Given the description of an element on the screen output the (x, y) to click on. 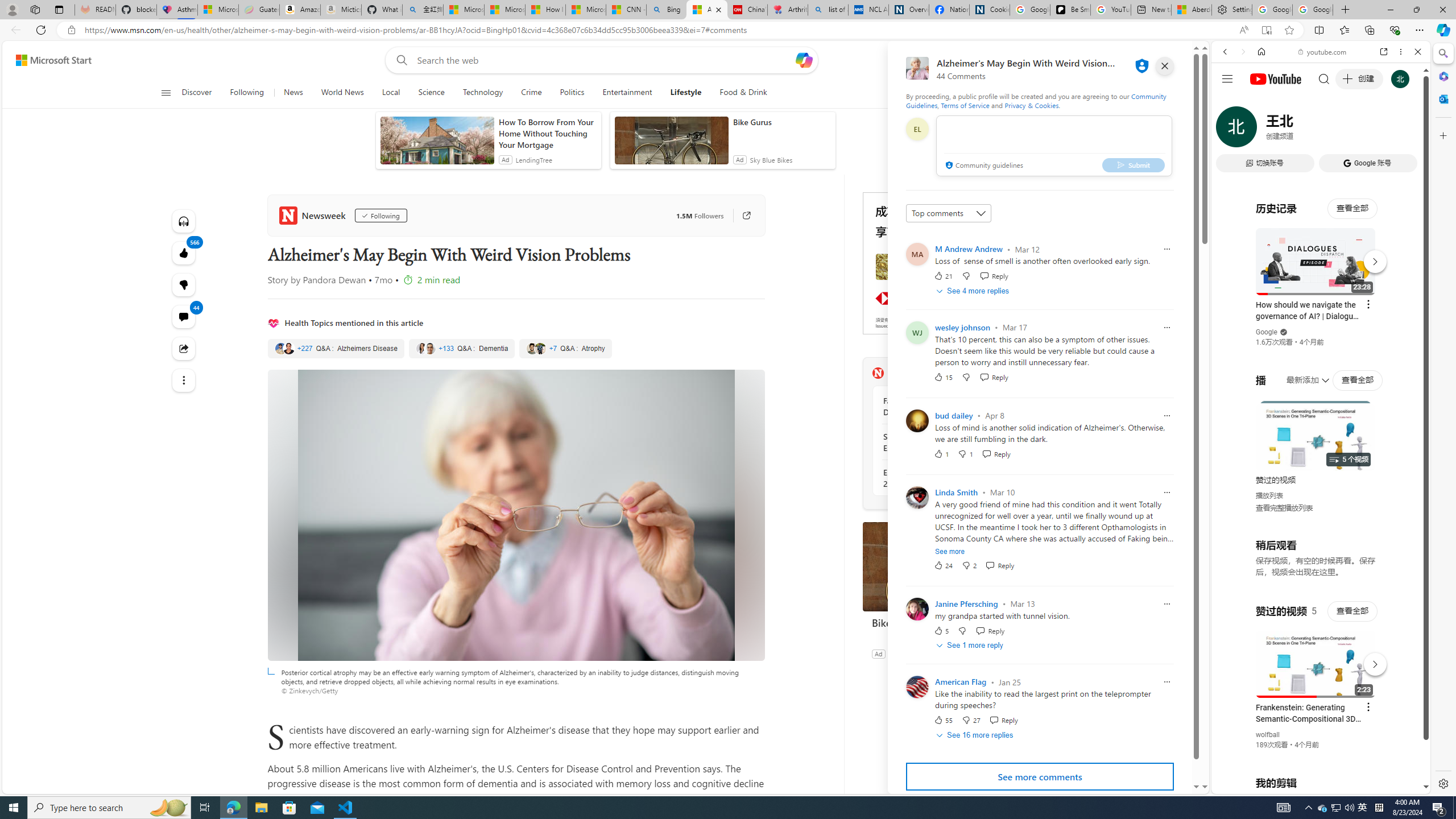
Collections (1369, 29)
Search (1442, 53)
Linda Smith (956, 491)
bud dailey (953, 415)
Feedback (1157, 784)
you (1315, 755)
Science (430, 92)
Sky Blue Bikes (909, 653)
Search the web (1326, 78)
Personal Profile (12, 9)
Close tab (718, 9)
Microsoft Start (53, 60)
Web search (398, 60)
